Given the description of an element on the screen output the (x, y) to click on. 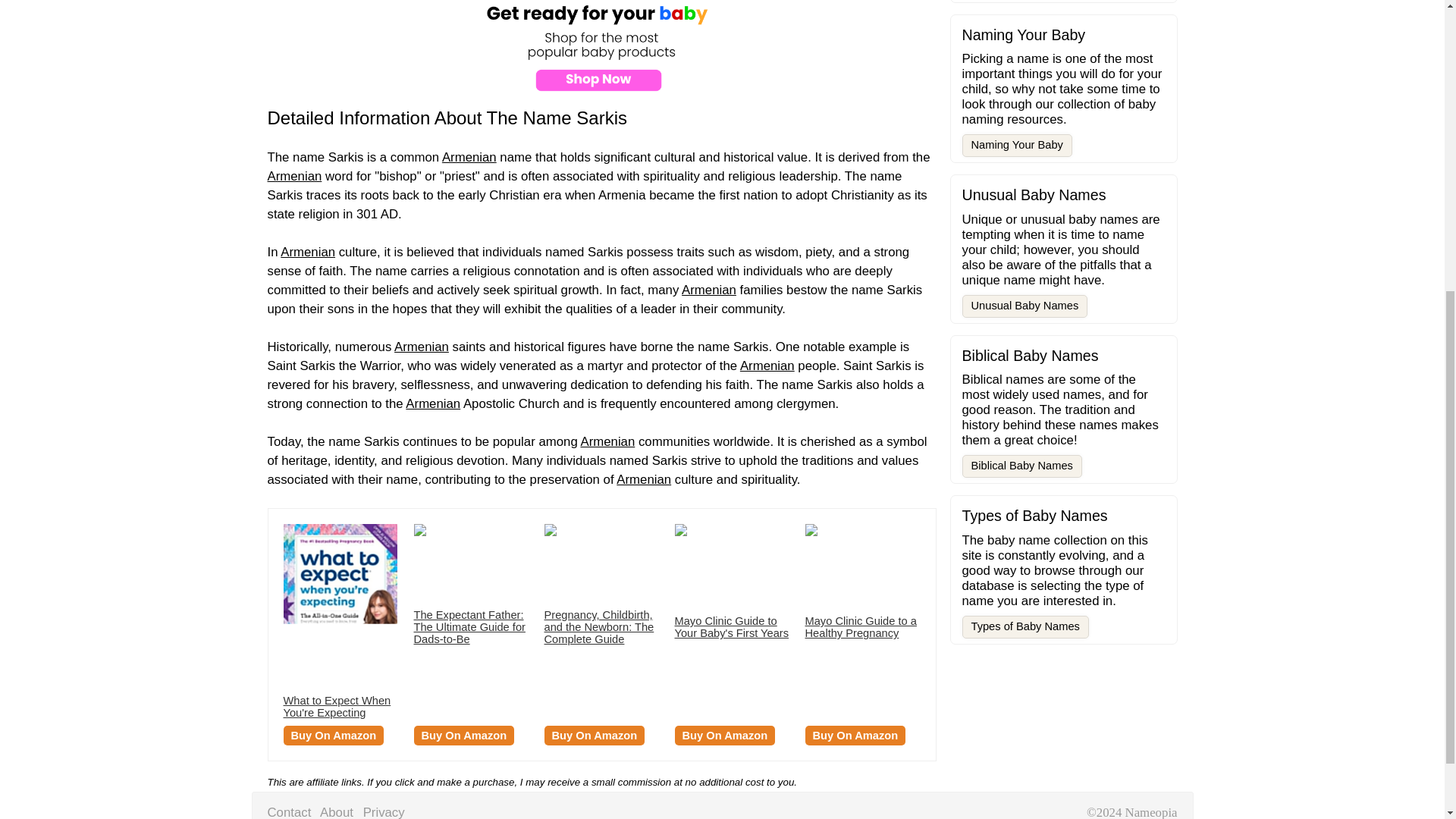
Armenian (307, 251)
Buy On Amazon (594, 735)
Buy On Amazon (725, 735)
Armenian (433, 403)
Armenian (643, 479)
Pregnancy, Childbirth, and the Newborn: The Complete Guide (598, 627)
Buy On Amazon (333, 735)
What to Expect When You're Expecting (337, 706)
Buy On Amazon (464, 735)
Armenian (293, 175)
Mayo Clinic Guide to Your Baby's First Years (732, 627)
Armenian (708, 289)
The Expectant Father: The Ultimate Guide for Dads-to-Be (469, 627)
Armenian (766, 365)
Armenian (606, 441)
